Given the description of an element on the screen output the (x, y) to click on. 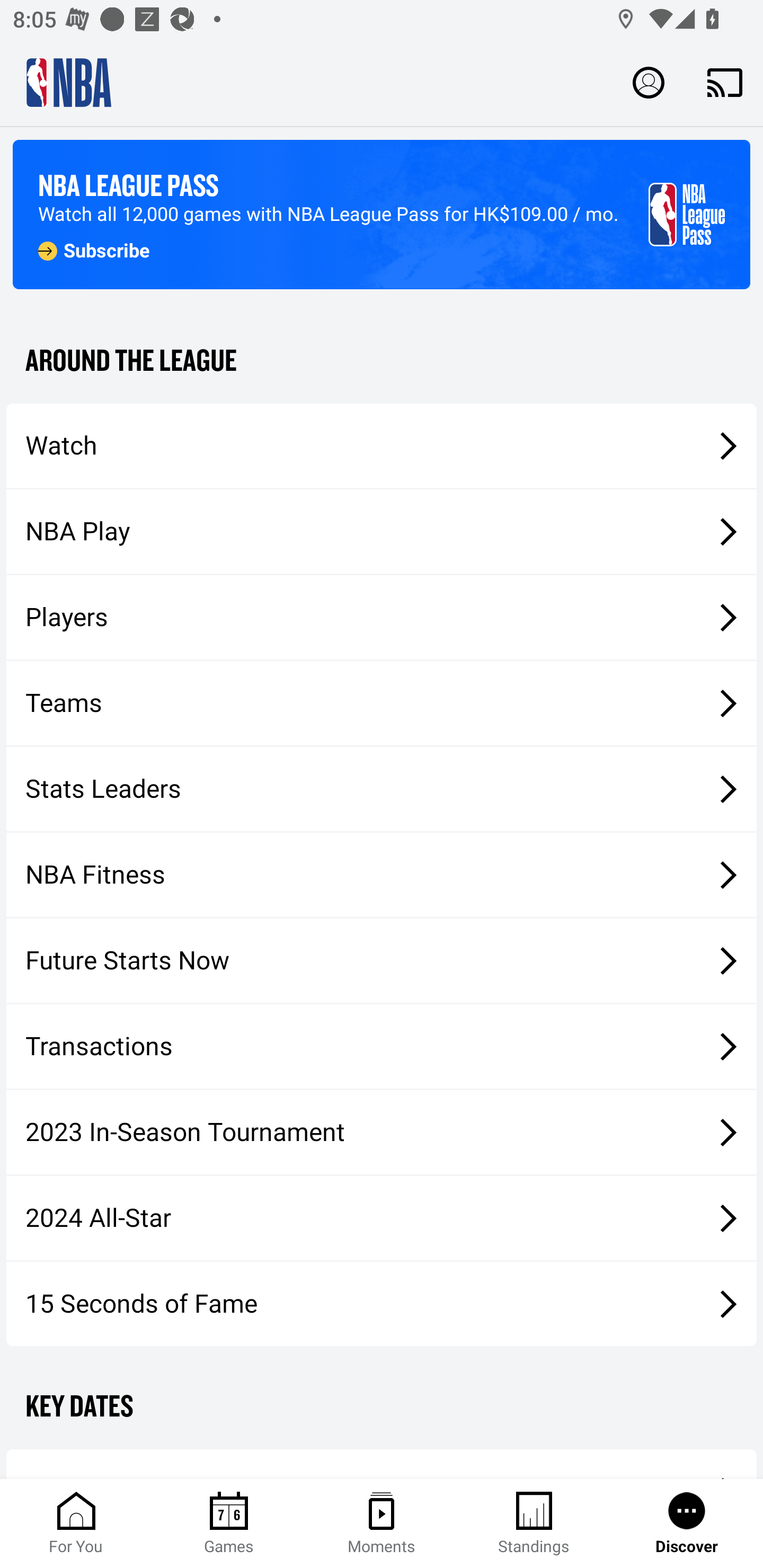
Cast. Disconnected (724, 82)
Profile (648, 81)
Watch (381, 444)
NBA Play (381, 531)
Players (381, 617)
Teams (381, 702)
Stats Leaders (381, 788)
NBA Fitness (381, 874)
Future Starts Now (381, 960)
Transactions (381, 1046)
2023 In-Season Tournament (381, 1131)
2024 All-Star (381, 1218)
15 Seconds of Fame (381, 1303)
For You (76, 1523)
Games (228, 1523)
Moments (381, 1523)
Standings (533, 1523)
